Given the description of an element on the screen output the (x, y) to click on. 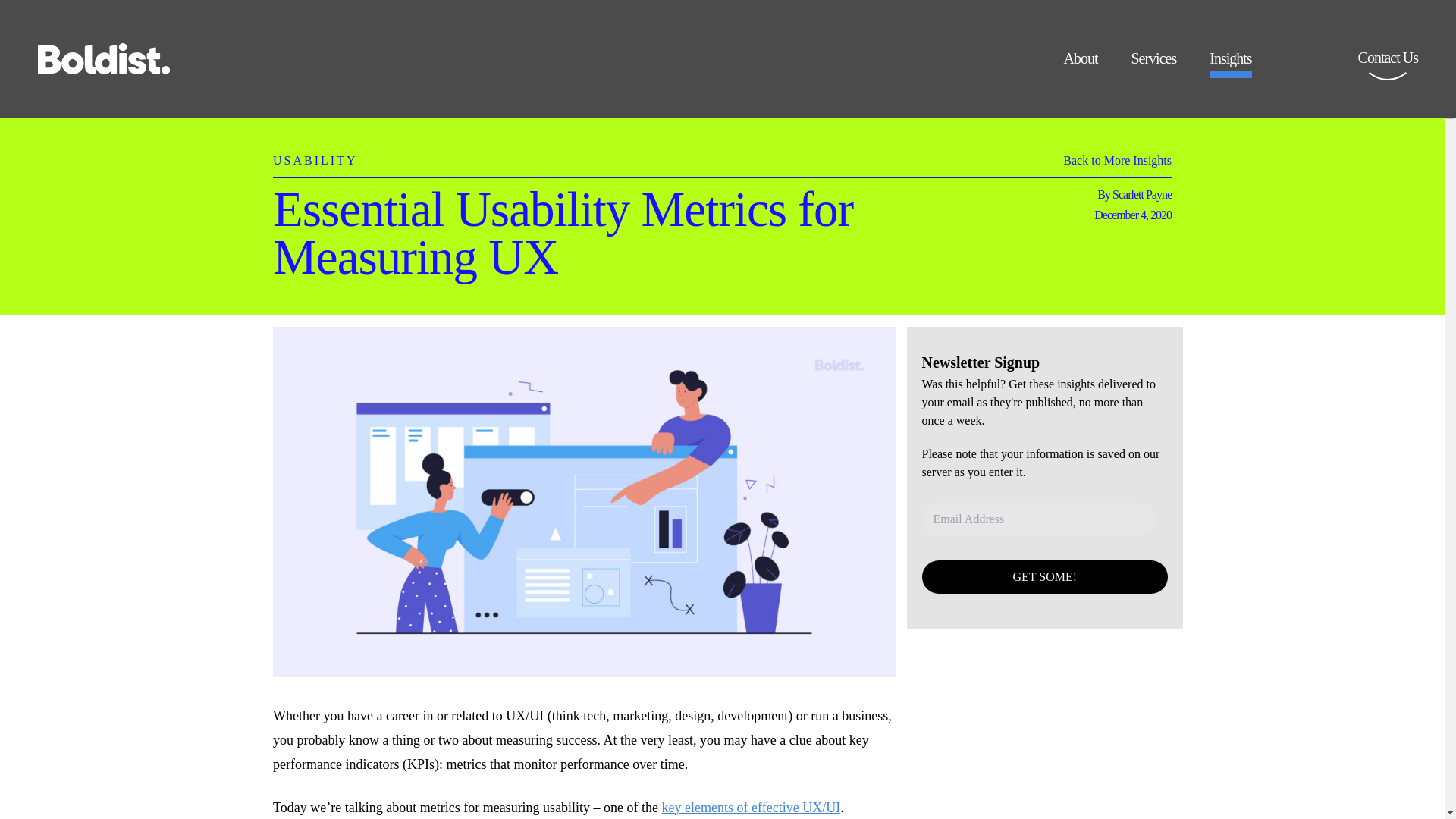
Back to More Insights (1117, 164)
GET SOME! (1045, 576)
USABILITY (314, 152)
Insights (1229, 63)
GET SOME! (1045, 576)
Posts by Scarlett Payne (1142, 194)
Scarlett Payne (1142, 194)
Contact Us (1388, 68)
Services (1153, 63)
About (1079, 63)
